Given the description of an element on the screen output the (x, y) to click on. 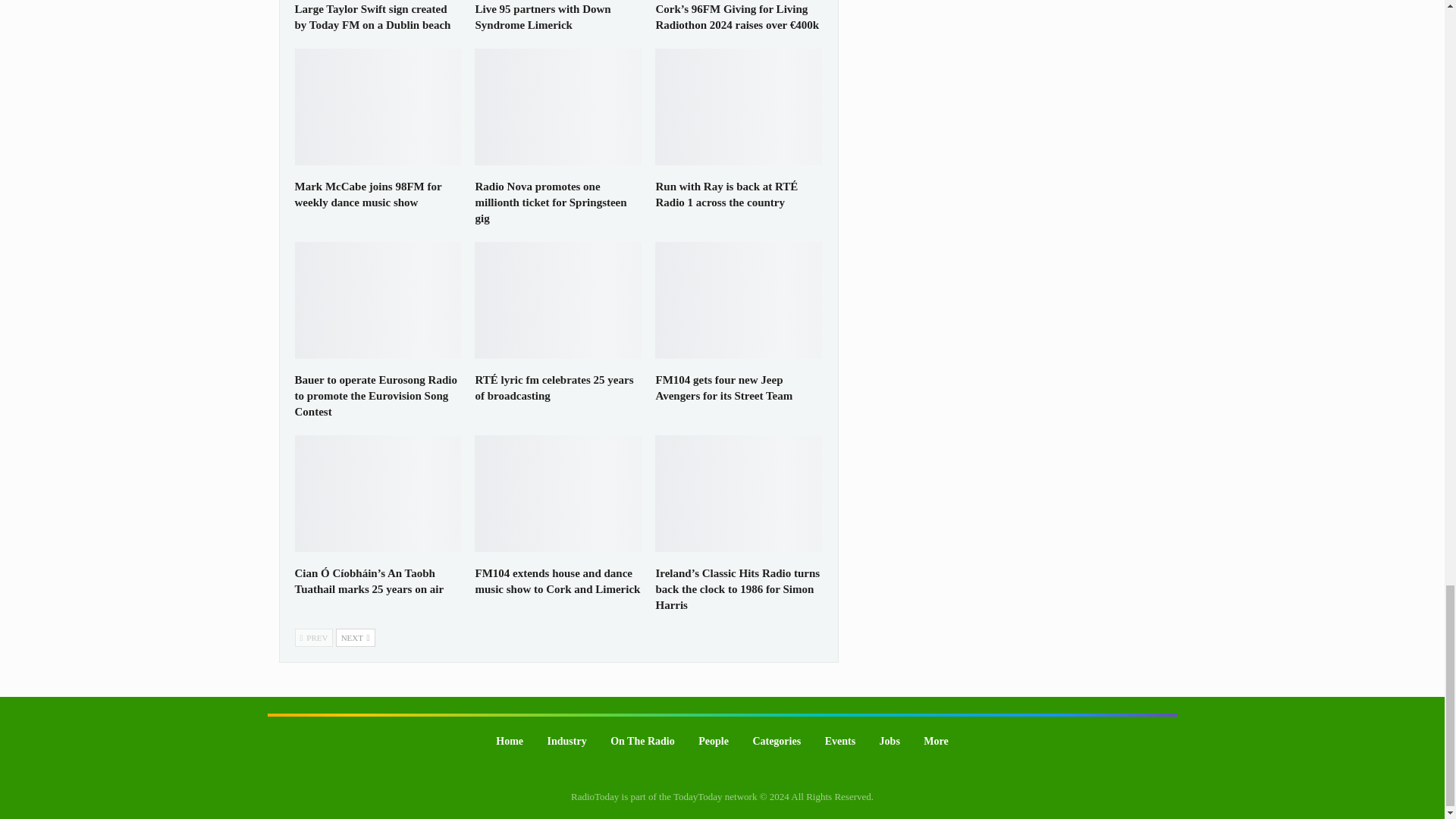
Mark McCabe joins 98FM for weekly dance music show (377, 106)
Live 95 partners with Down Syndrome Limerick (542, 17)
Radio Nova promotes one millionth ticket for Springsteen gig (550, 202)
Mark McCabe joins 98FM for weekly dance music show (367, 194)
Radio Nova promotes one millionth ticket for Springsteen gig (558, 106)
